Given the description of an element on the screen output the (x, y) to click on. 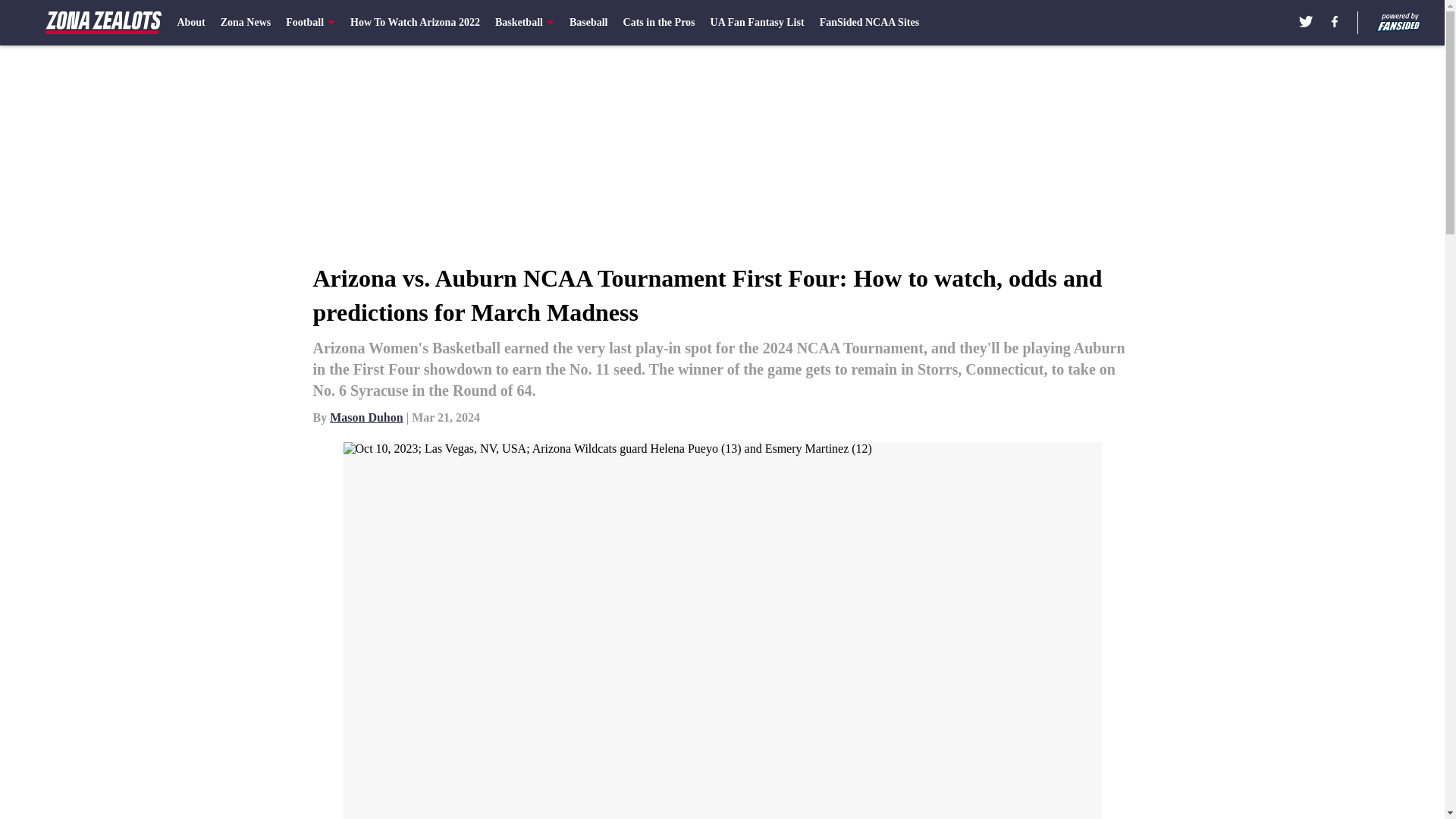
Zona News (245, 22)
How To Watch Arizona 2022 (415, 22)
FanSided NCAA Sites (868, 22)
Baseball (588, 22)
Cats in the Pros (659, 22)
About (190, 22)
UA Fan Fantasy List (757, 22)
Mason Duhon (366, 417)
